Given the description of an element on the screen output the (x, y) to click on. 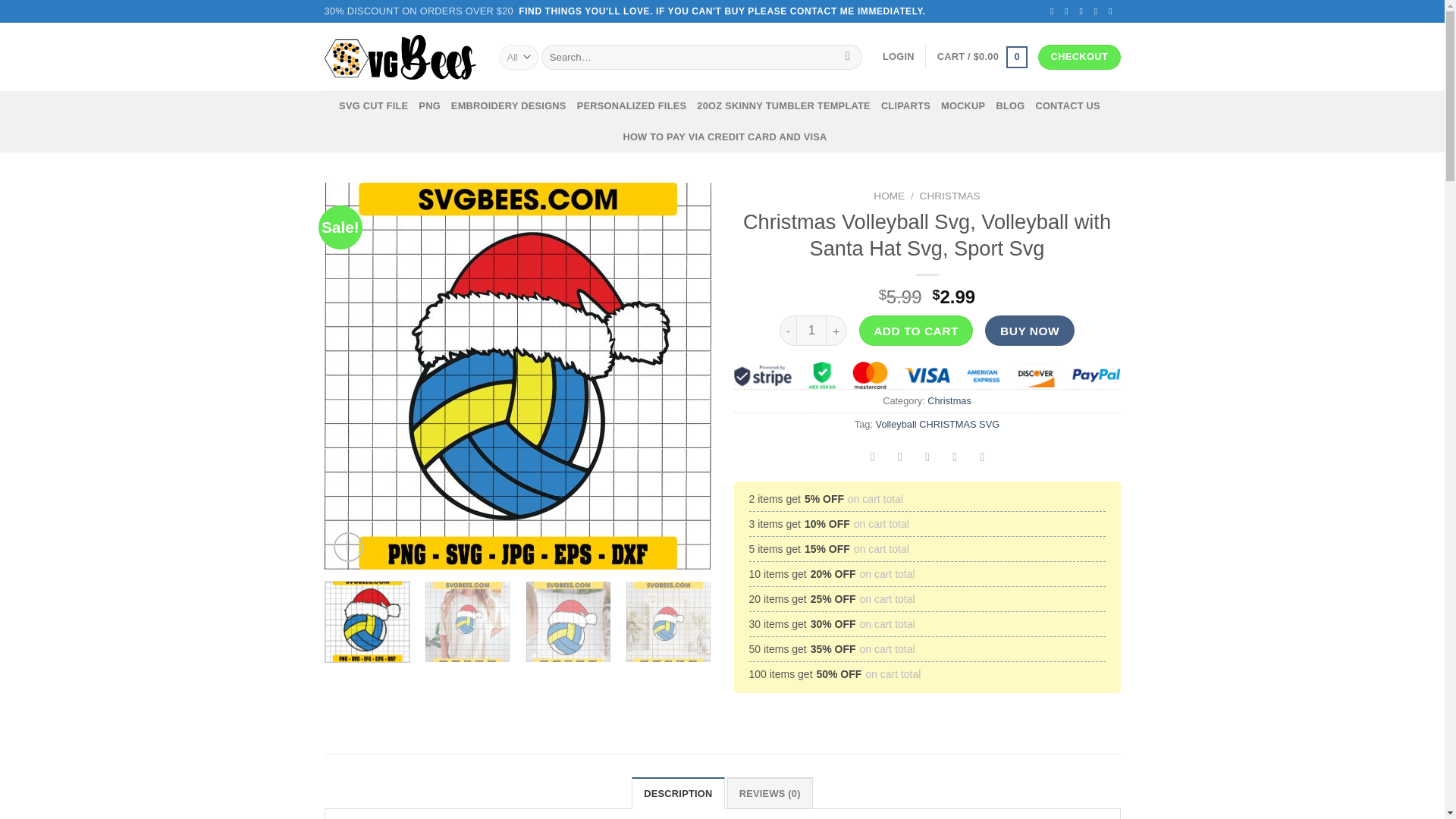
Share on Twitter (900, 458)
PERSONALIZED FILES (631, 105)
Search (847, 57)
Sign up for Newsletter (418, 11)
20OZ SKINNY TUMBLER TEMPLATE (783, 105)
MOCKUP (962, 105)
Share on Facebook (872, 458)
CLIPARTS (905, 105)
Zoom (347, 547)
